Given the description of an element on the screen output the (x, y) to click on. 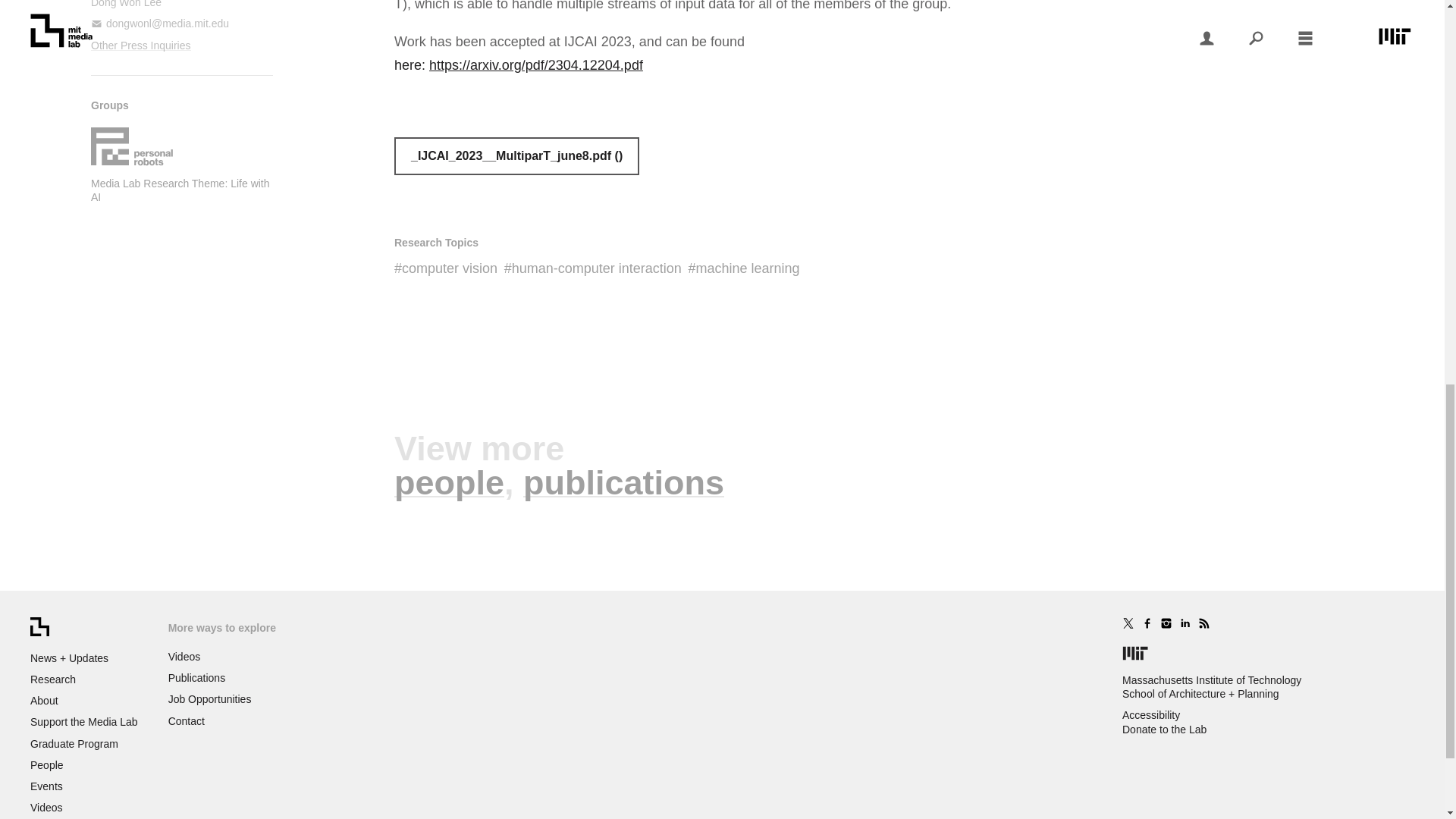
Dong Won Lee (125, 4)
Other Press Inquiries (140, 45)
Media Lab Research Theme: Life with AI (179, 190)
